Given the description of an element on the screen output the (x, y) to click on. 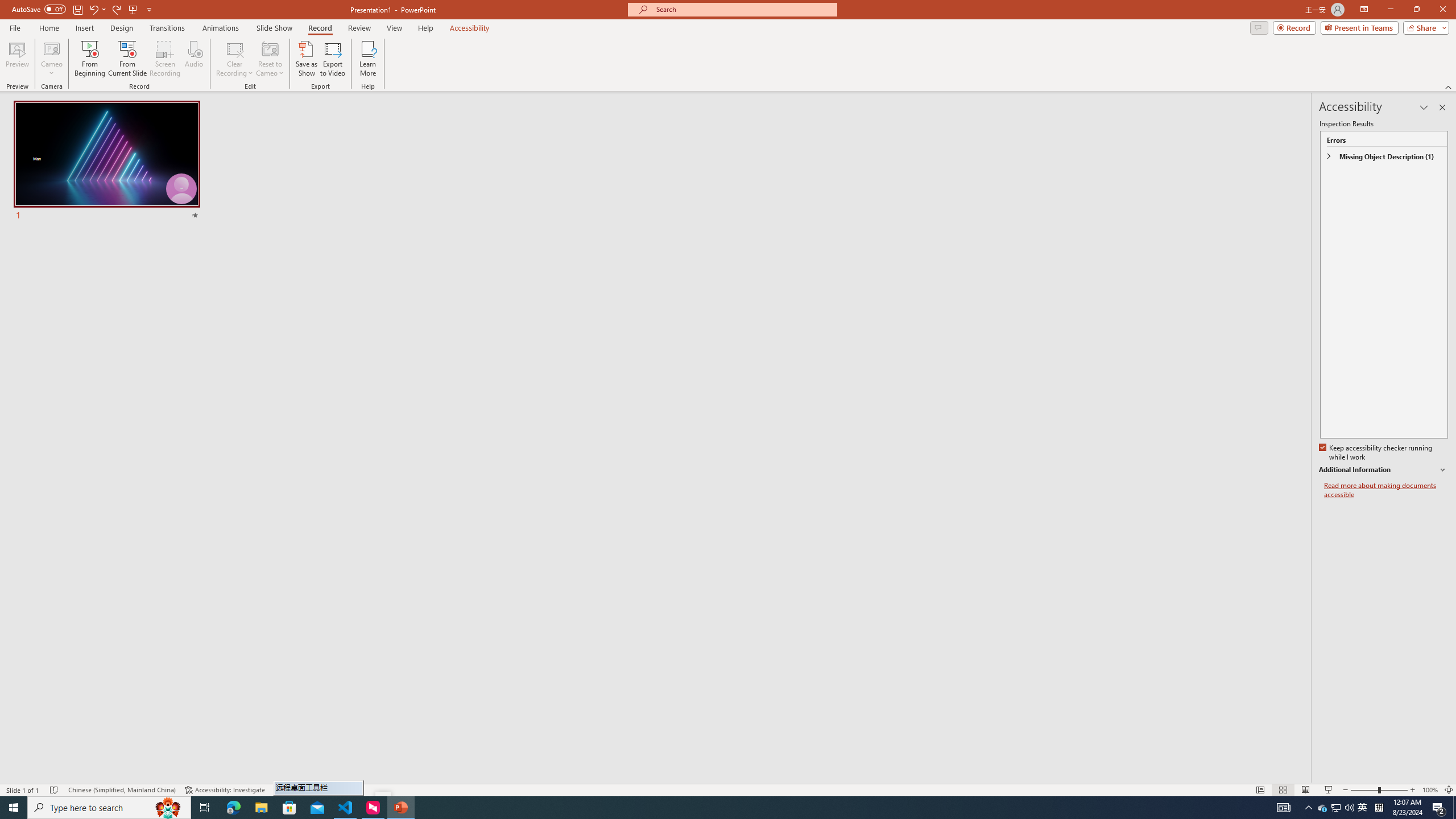
Cameo (51, 48)
Task Pane Options (1423, 107)
Clear Recording (234, 58)
